Given the description of an element on the screen output the (x, y) to click on. 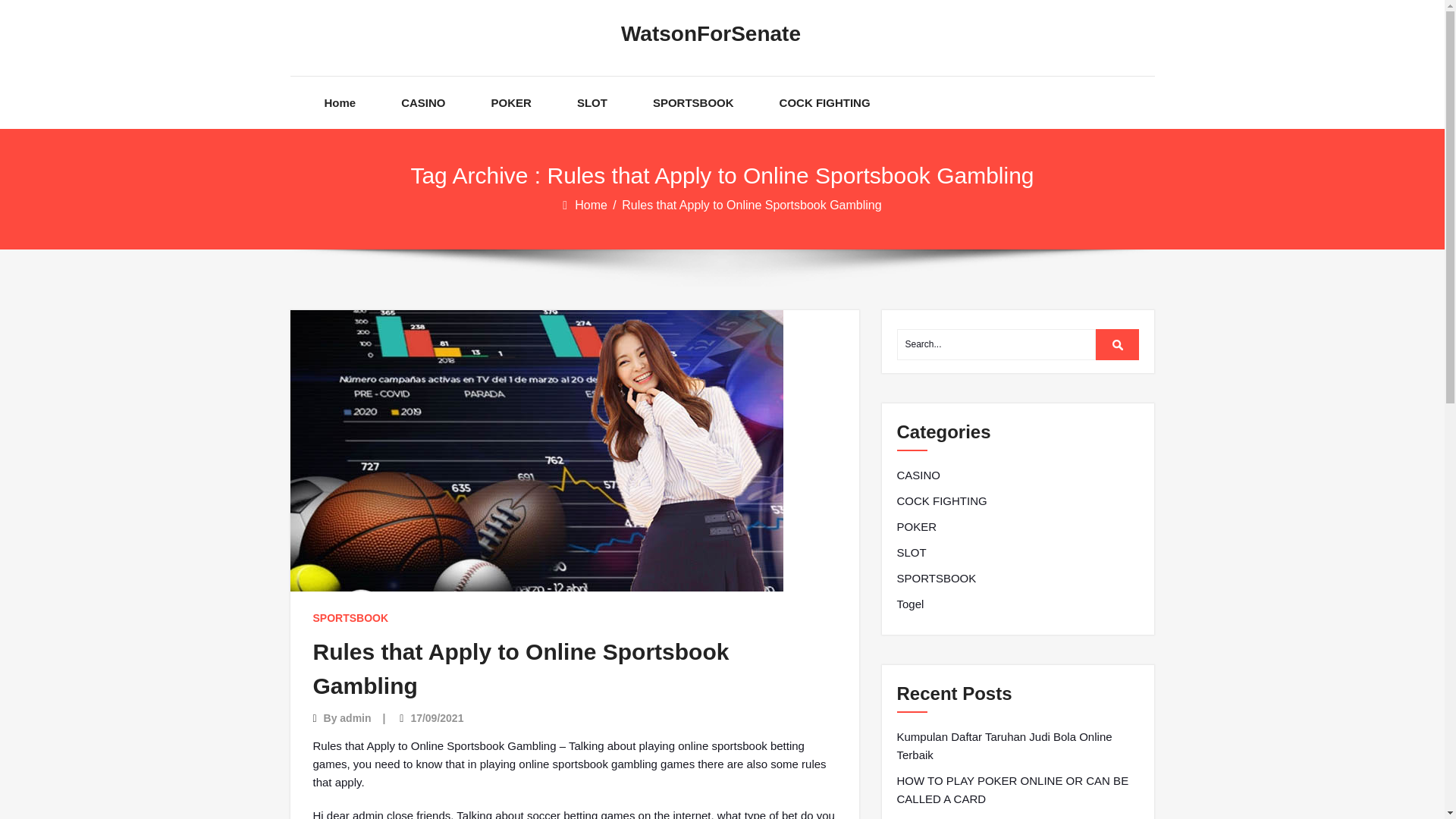
Togel (909, 604)
Kumpulan Daftar Taruhan Judi Bola Online Terbaik (1017, 746)
Home (592, 205)
HOW TO PLAY POKER ONLINE OR CAN BE CALLED A CARD (1017, 790)
COCK FIGHTING (824, 102)
POKER (916, 526)
COCK FIGHTING (941, 501)
SPORTSBOOK (350, 617)
SPORTSBOOK (935, 578)
SPORTSBOOK (692, 102)
CASINO (918, 475)
Rules that Apply to Online Sportsbook Gambling (521, 668)
Selection of the Best Poker Gambling Tricks Make Profits (1017, 817)
Search (1118, 344)
admin (355, 717)
